Given the description of an element on the screen output the (x, y) to click on. 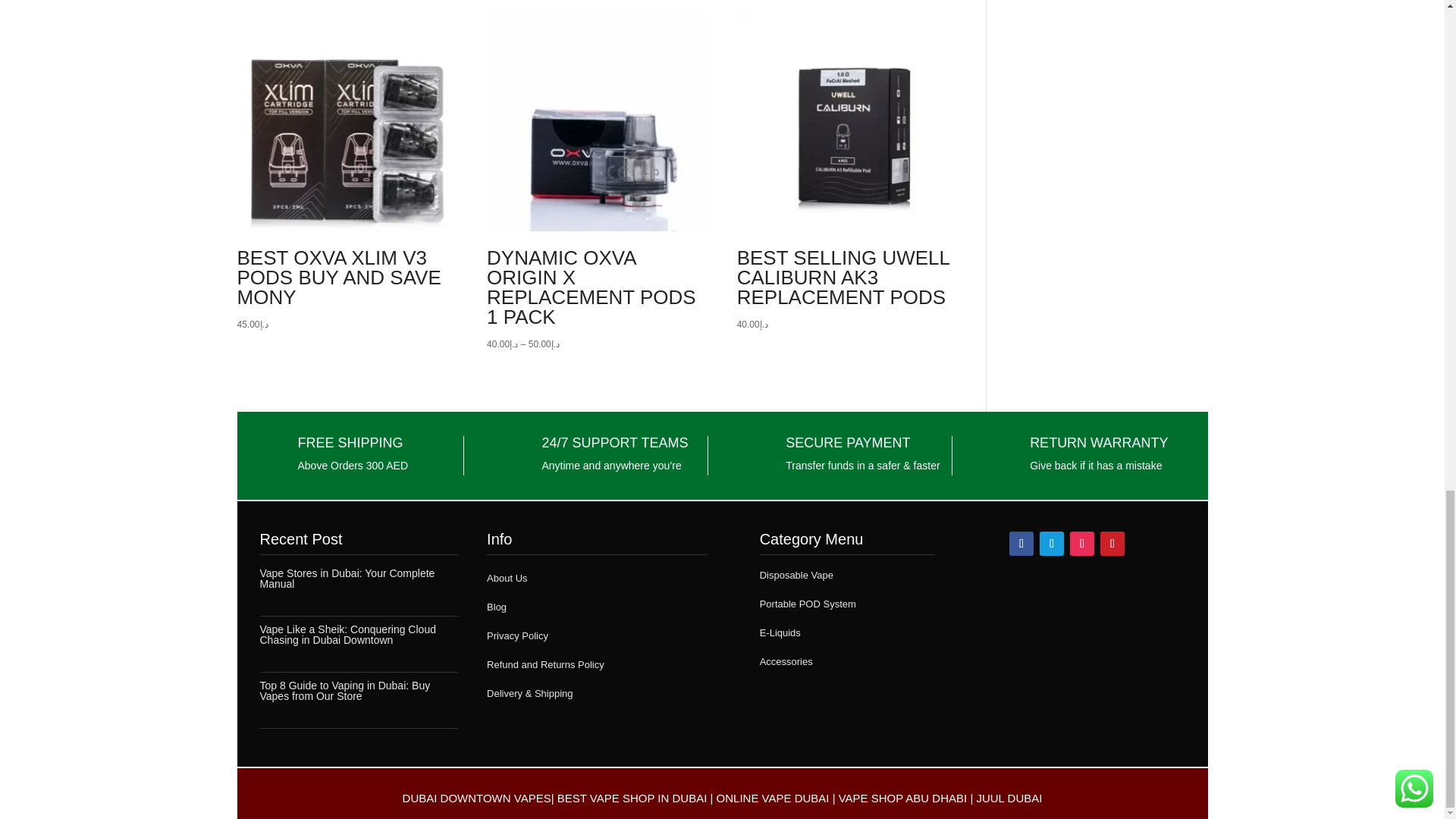
Follow on Pinterest (1112, 543)
Follow on Telegram (1051, 543)
Follow on Facebook (1021, 543)
Follow on Instagram (1082, 543)
